Given the description of an element on the screen output the (x, y) to click on. 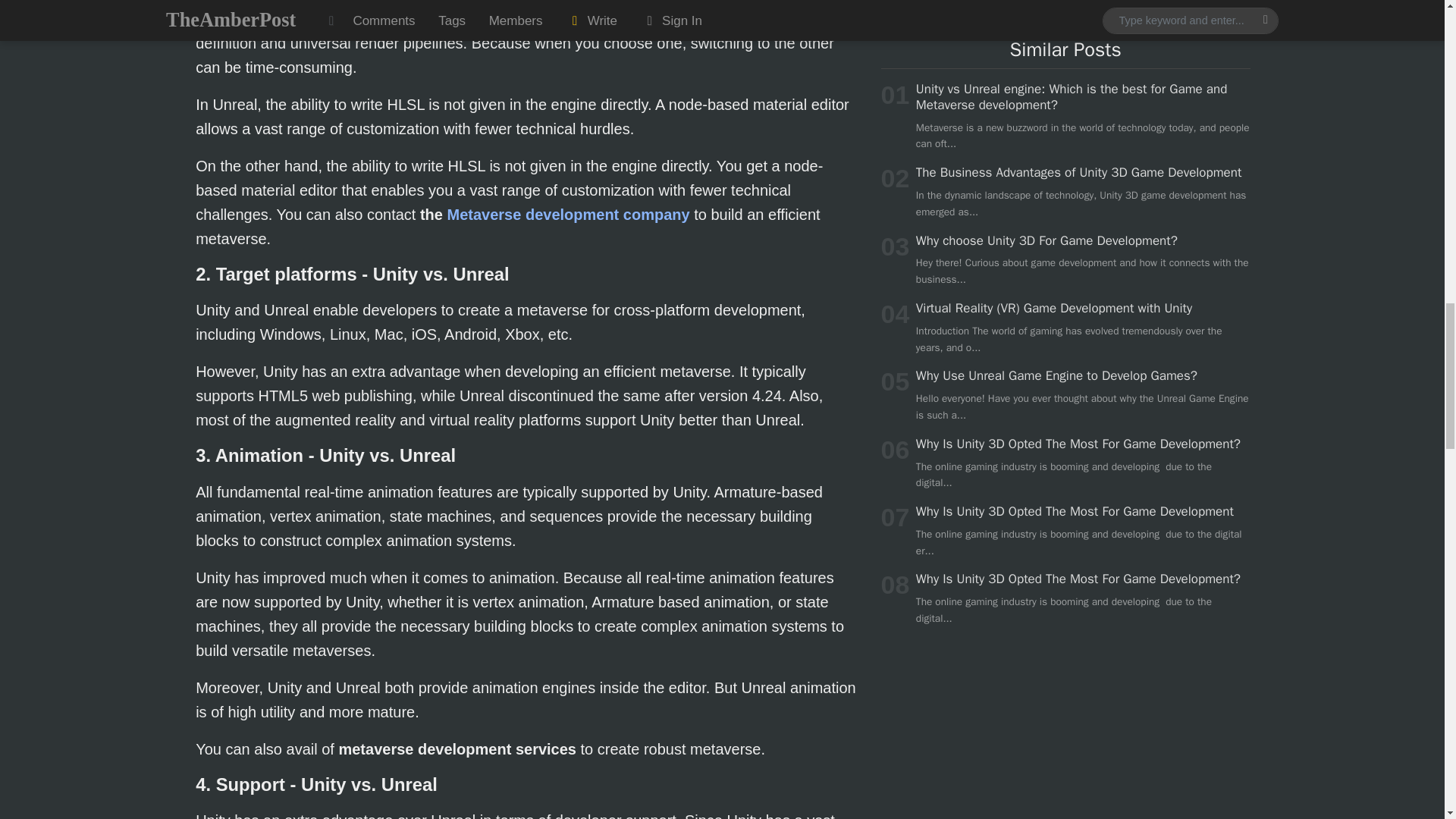
Metaverse development company (568, 214)
